Given the description of an element on the screen output the (x, y) to click on. 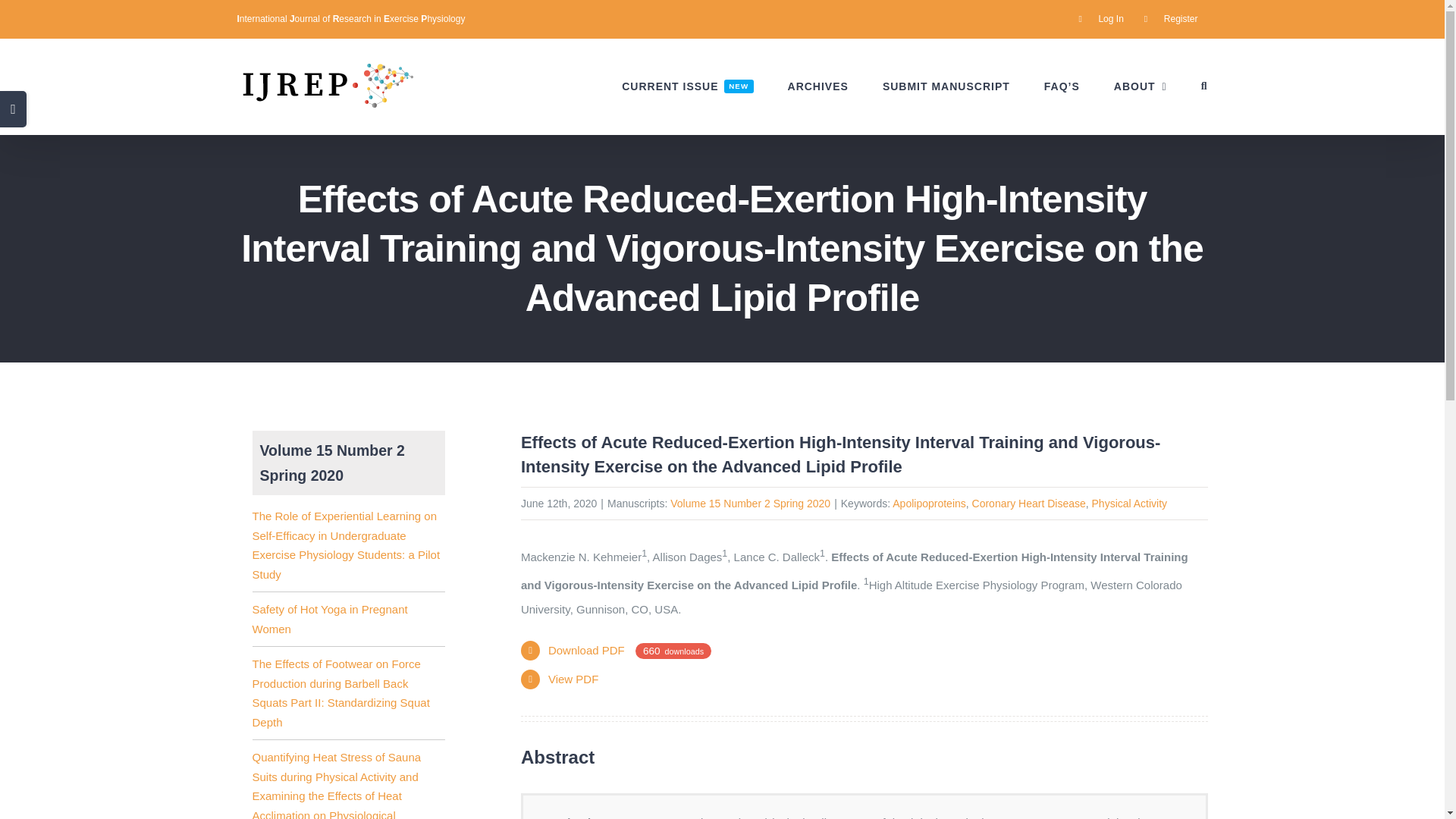
CURRENT ISSUE (686, 86)
Coronary Heart Disease (1029, 503)
Volume 15 Number 2 Spring 2020 (749, 503)
View PDF (573, 678)
Apolipoproteins (929, 503)
Safety of Hot Yoga in Pregnant Women (329, 618)
Register (686, 86)
Download PDF 660 (1171, 18)
